Given the description of an element on the screen output the (x, y) to click on. 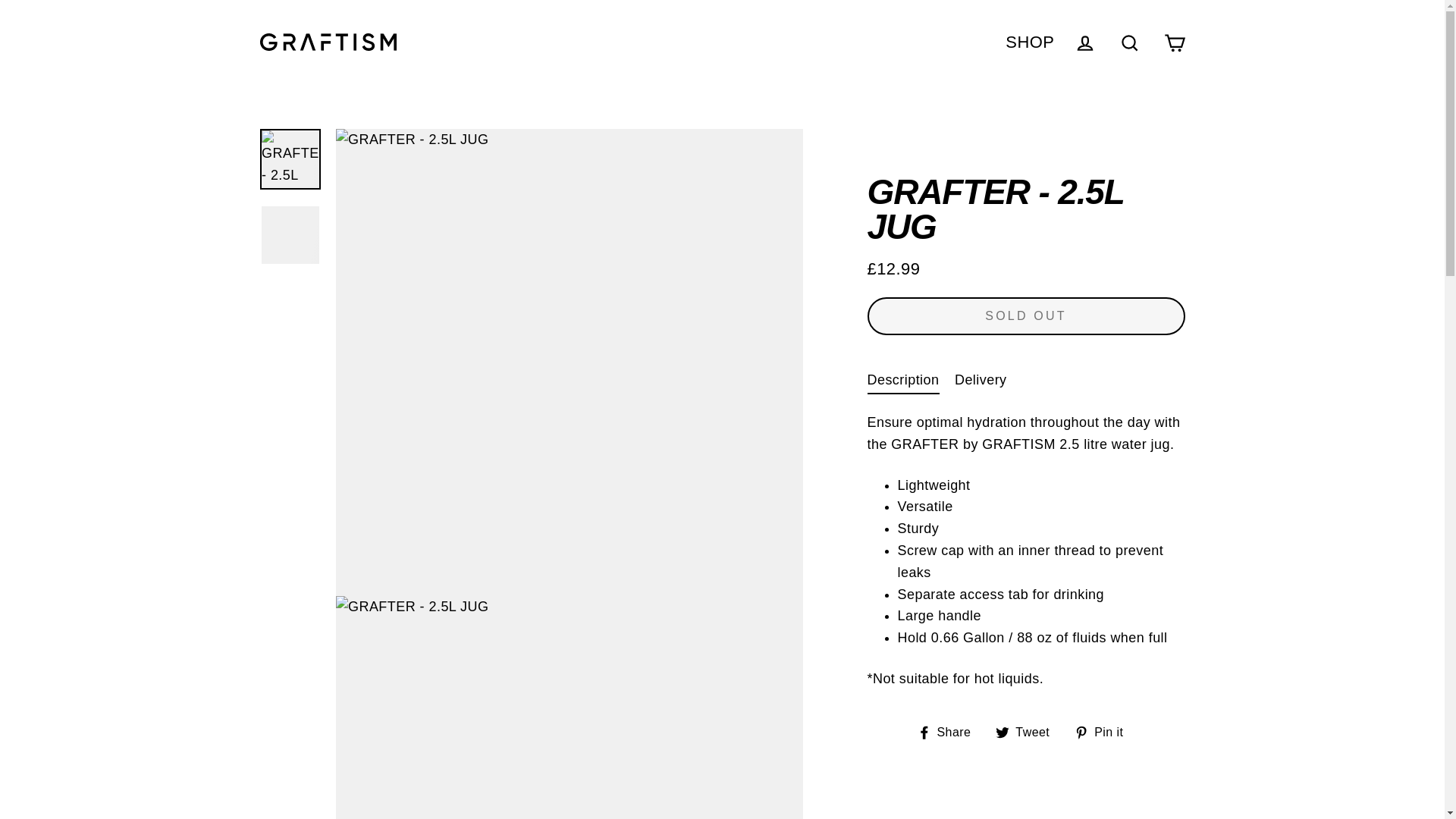
Pin on Pinterest (1104, 731)
Share on Facebook (1028, 731)
Skip to content (949, 731)
Delivery (1029, 41)
Tweet on Twitter (981, 379)
Description (1028, 731)
SOLD OUT (949, 731)
